Given the description of an element on the screen output the (x, y) to click on. 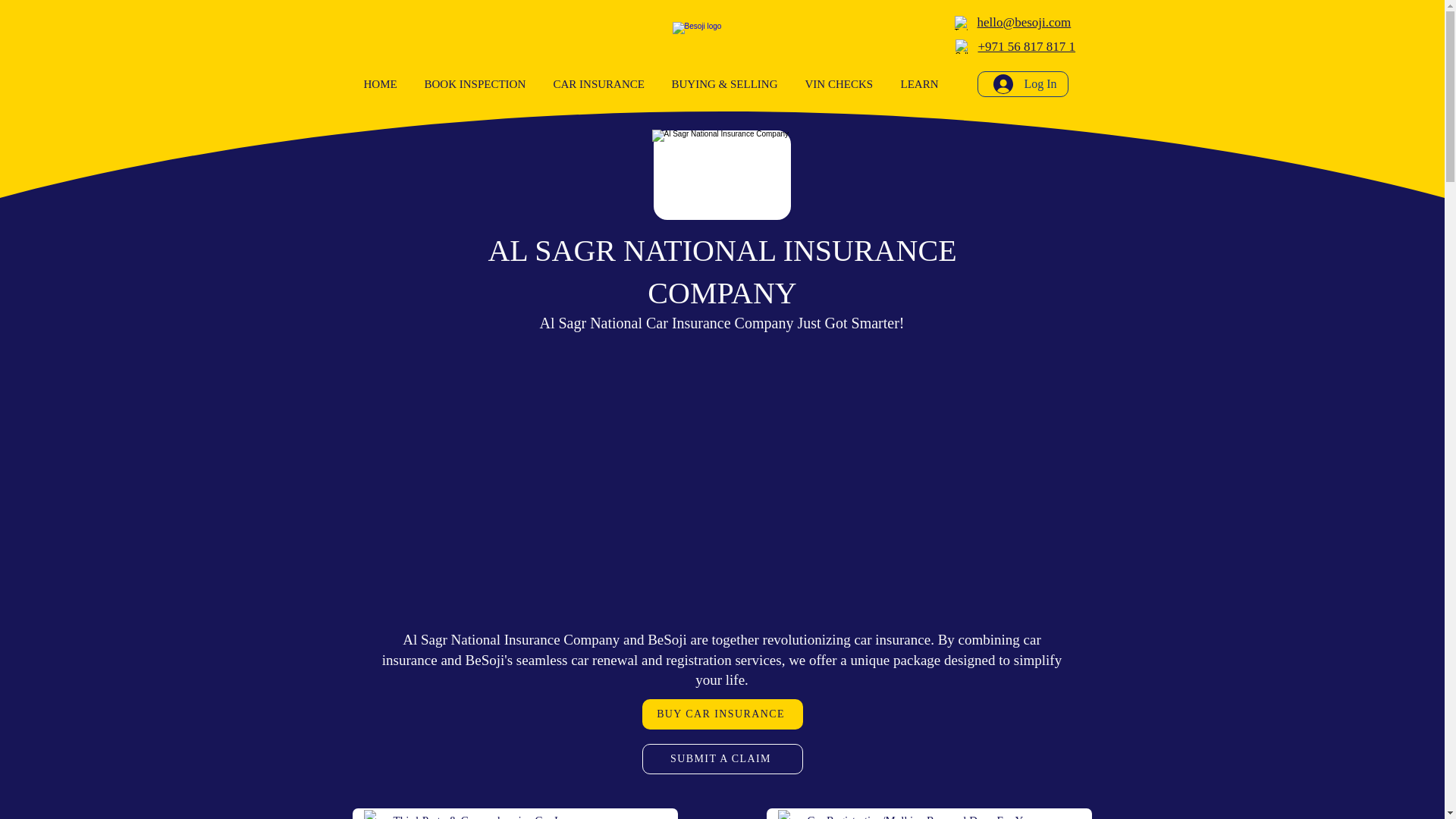
BOOK INSPECTION (476, 84)
5.png (722, 175)
VIN CHECKS (840, 84)
SUBMIT A CLAIM (722, 758)
CAR INSURANCE (600, 84)
BUY CAR INSURANCE (722, 714)
HOME (382, 84)
LEARN (920, 84)
Log In (1024, 83)
